Given the description of an element on the screen output the (x, y) to click on. 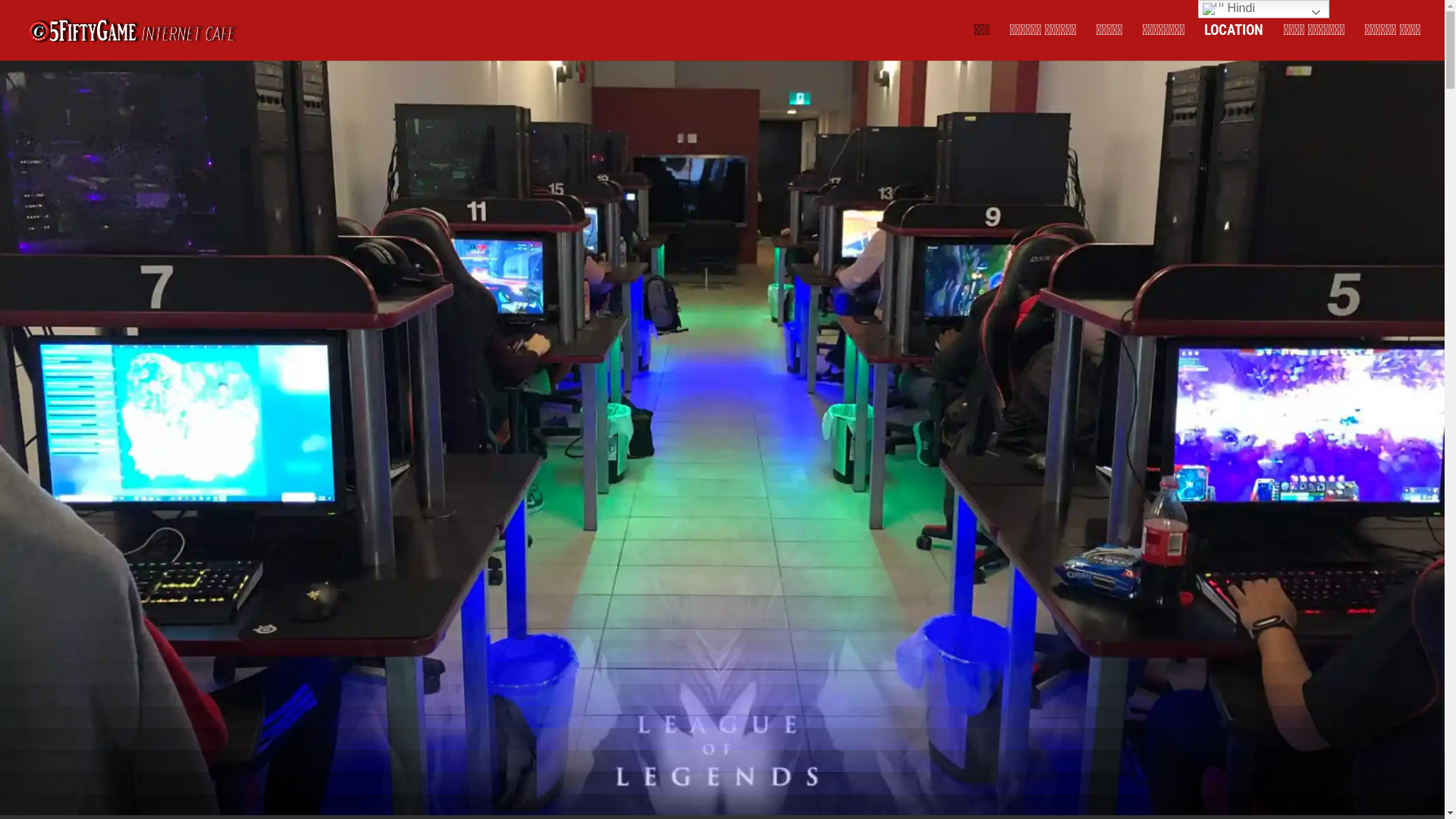
LOCATION Element type: text (1233, 42)
Hindi Element type: text (1263, 9)
